Given the description of an element on the screen output the (x, y) to click on. 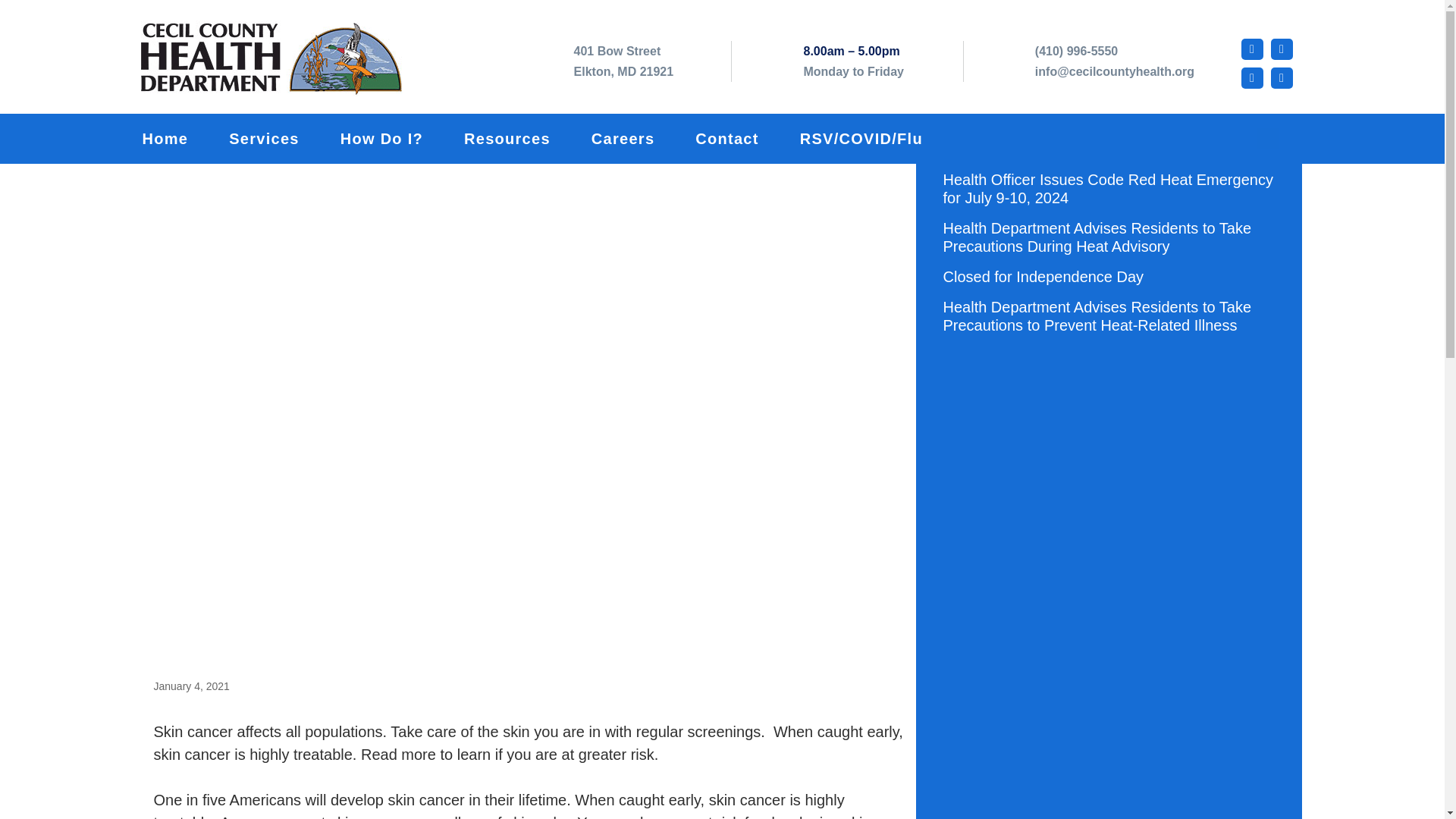
Home (186, 138)
Cecil County Health Department (277, 61)
Services (284, 138)
New! Skin Cancer Screening Program (623, 61)
